Given the description of an element on the screen output the (x, y) to click on. 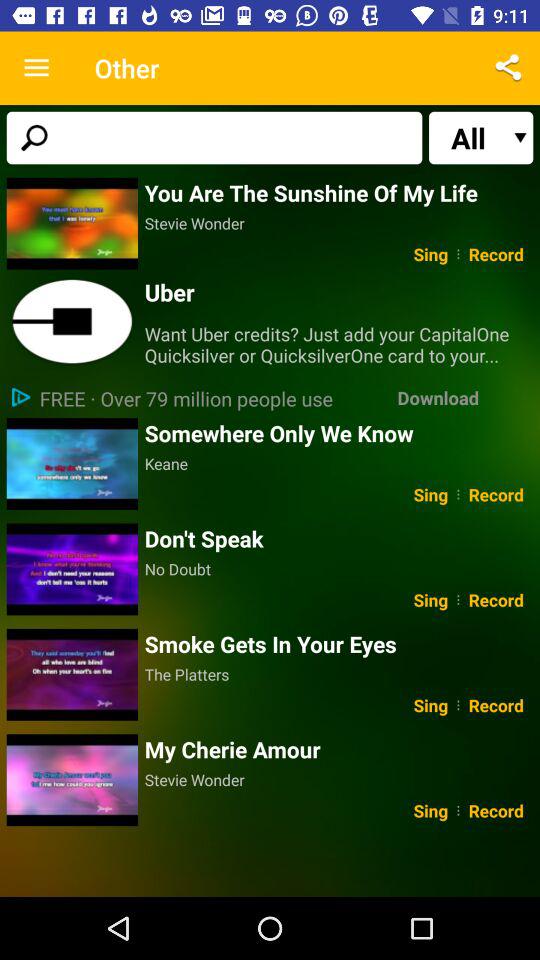
jump until the download item (438, 397)
